Given the description of an element on the screen output the (x, y) to click on. 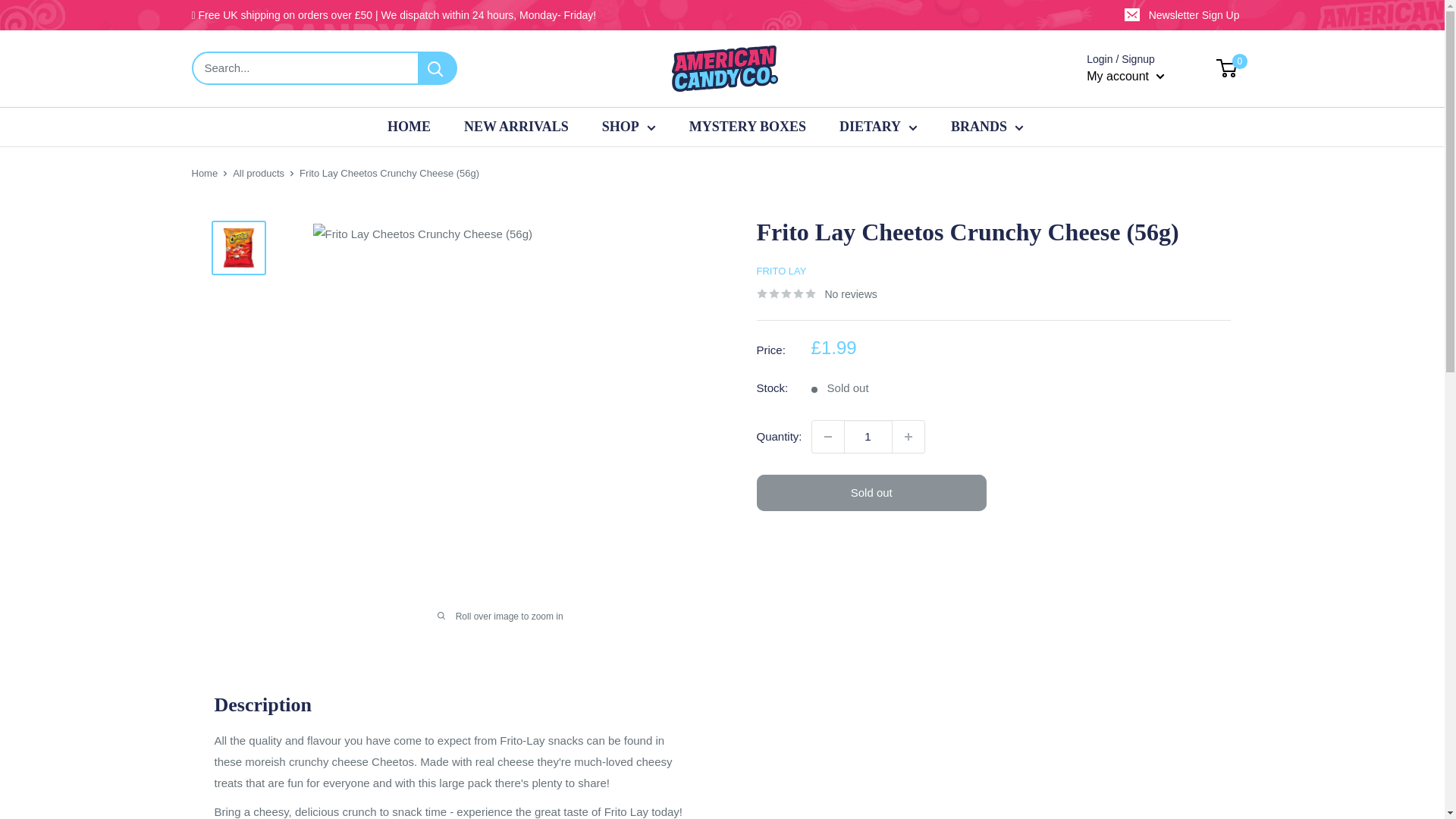
Decrease quantity by 1 (828, 436)
Increase quantity by 1 (908, 436)
1 (868, 436)
Newsletter Sign Up (1183, 15)
